Given the description of an element on the screen output the (x, y) to click on. 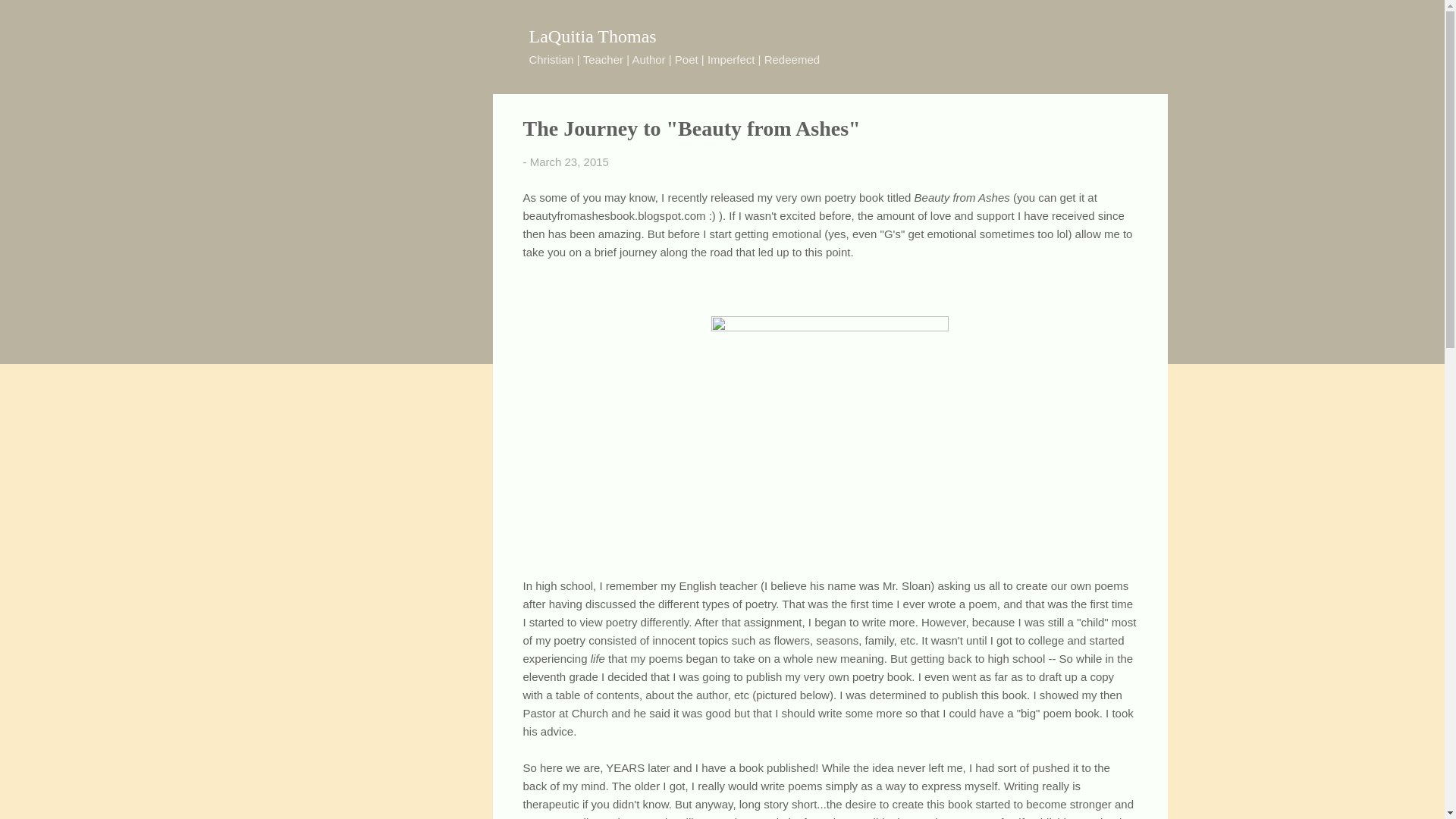
permanent link (568, 161)
March 23, 2015 (568, 161)
LaQuitia Thomas (592, 35)
